Given the description of an element on the screen output the (x, y) to click on. 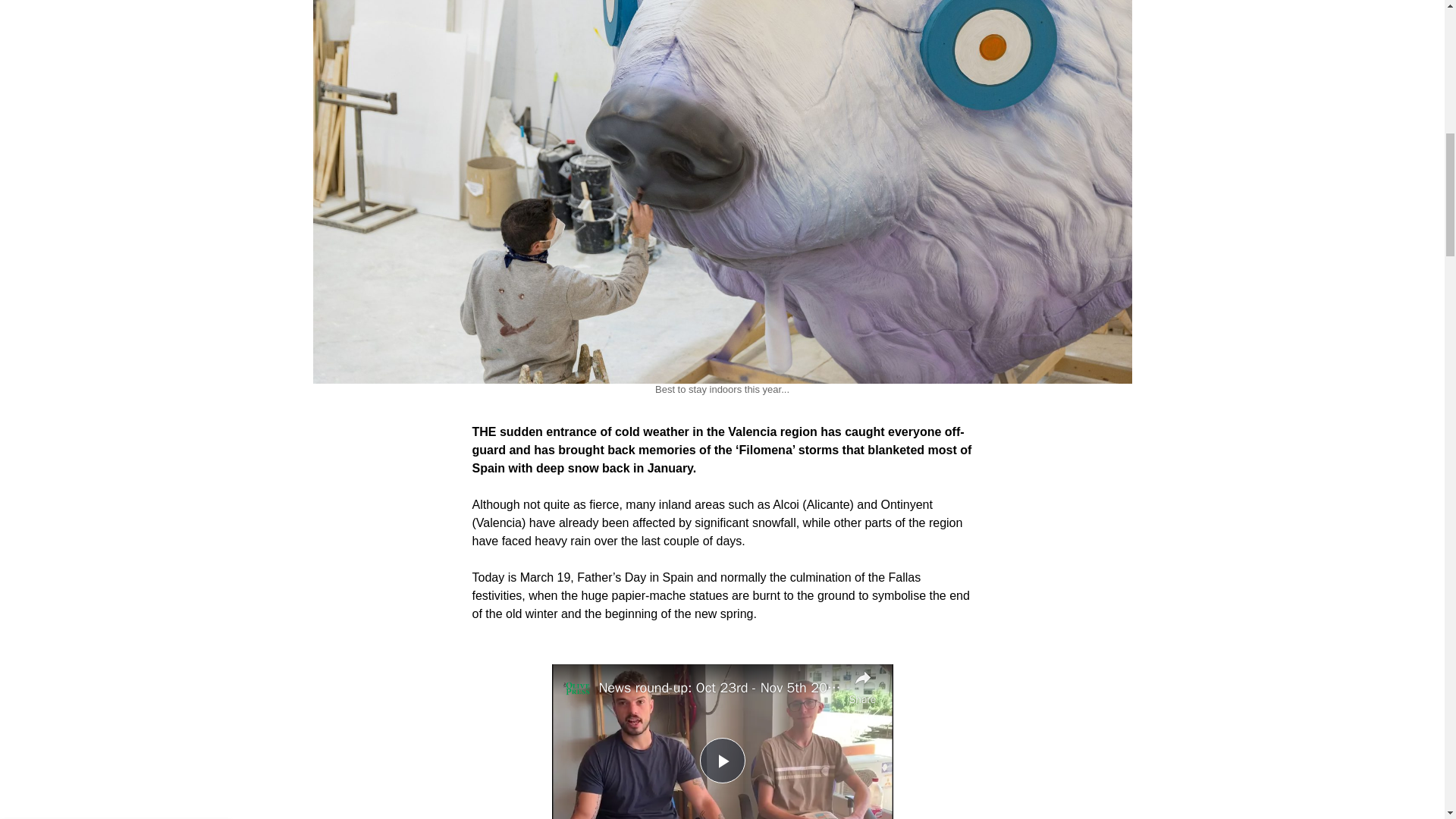
Play Video (721, 759)
